Given the description of an element on the screen output the (x, y) to click on. 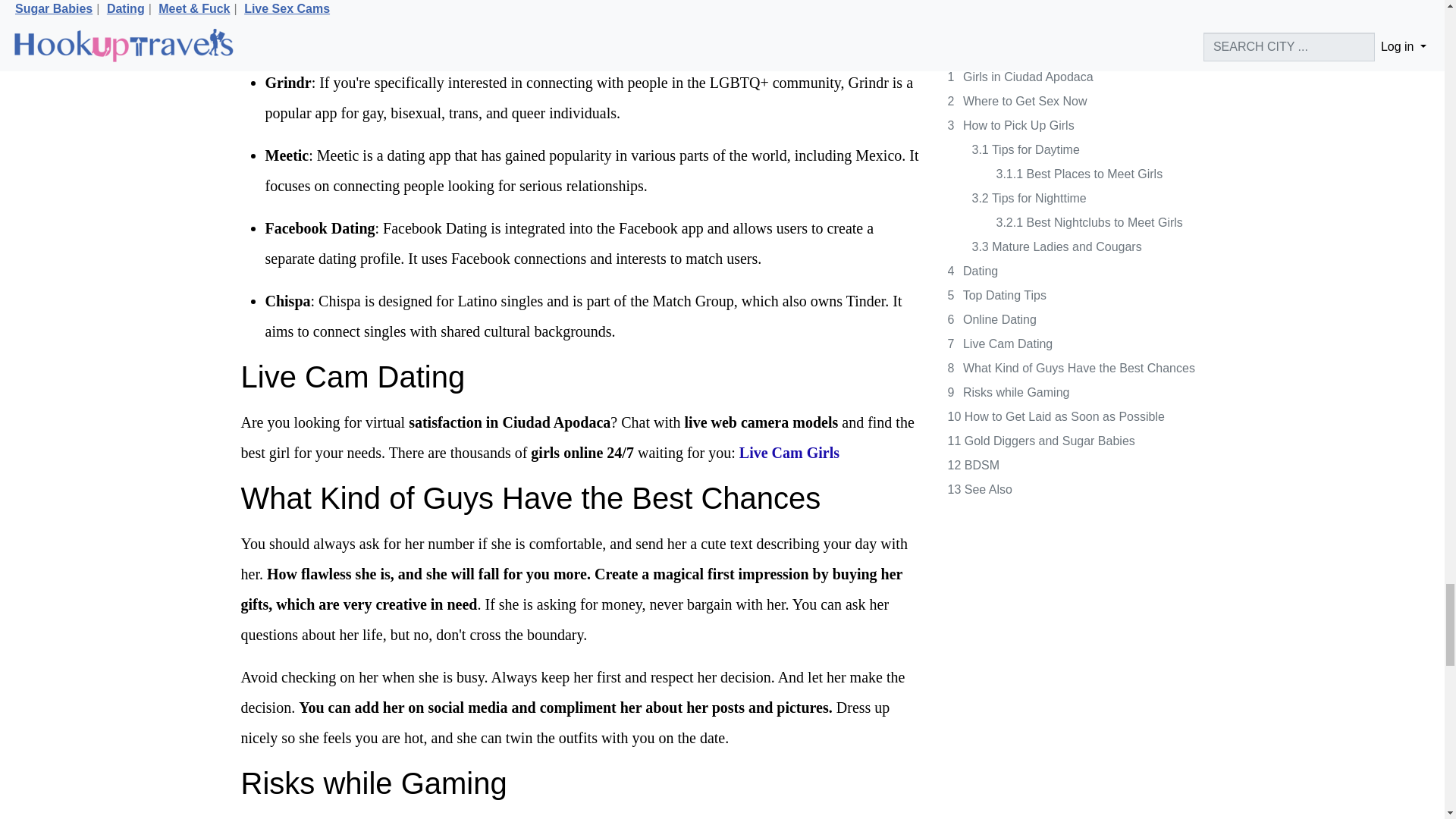
Live Cam Girls (789, 452)
